Given the description of an element on the screen output the (x, y) to click on. 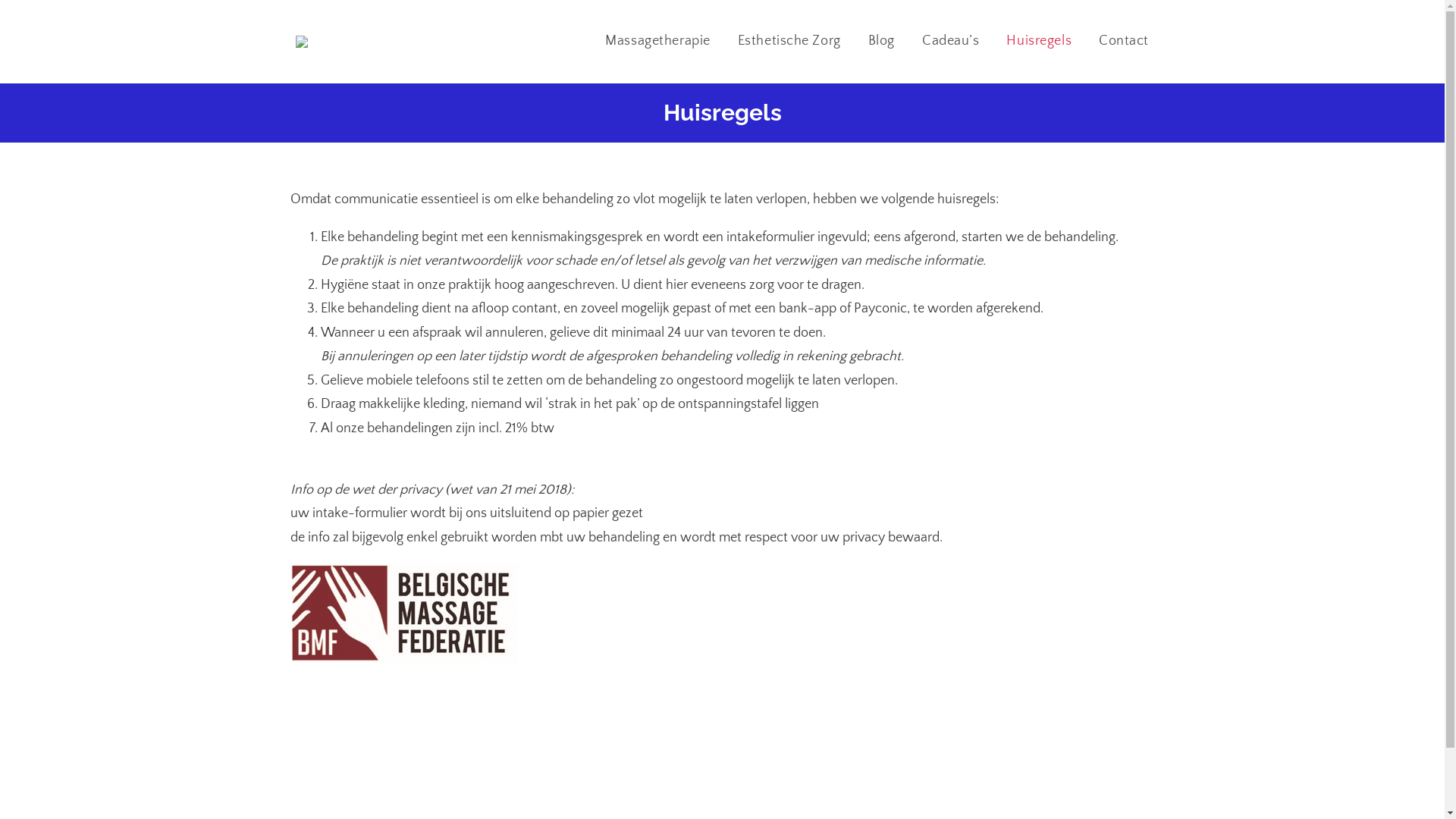
Esthetische Zorg Element type: text (788, 41)
Huisregels Element type: text (1038, 41)
Contact Element type: text (1123, 41)
Massagetherapie Element type: text (657, 41)
Blog Element type: text (881, 41)
